Given the description of an element on the screen output the (x, y) to click on. 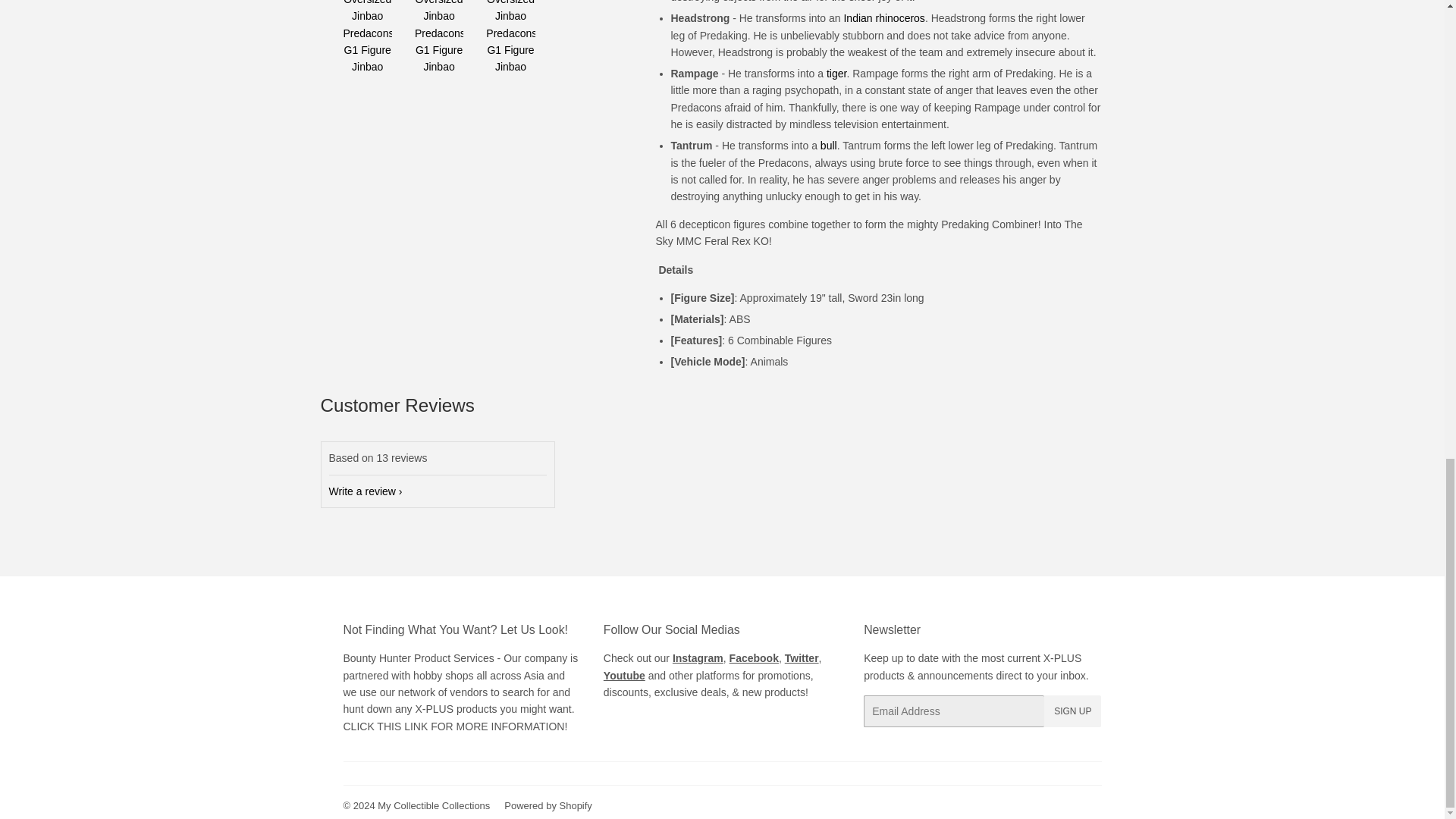
Cattle (829, 145)
Tiger (836, 73)
Indian rhinoceros (883, 18)
